Given the description of an element on the screen output the (x, y) to click on. 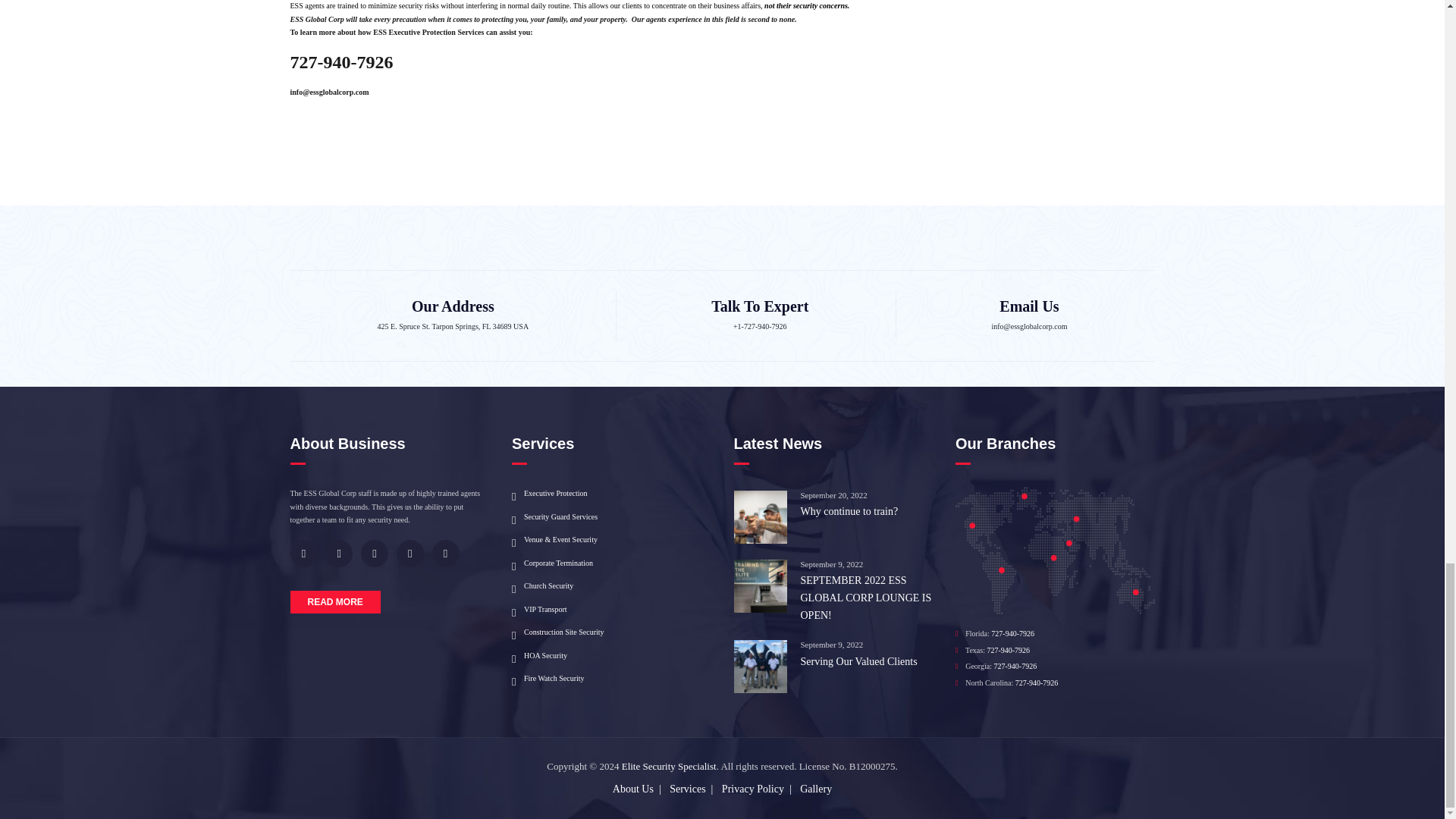
727-940-7926 (341, 62)
